Given the description of an element on the screen output the (x, y) to click on. 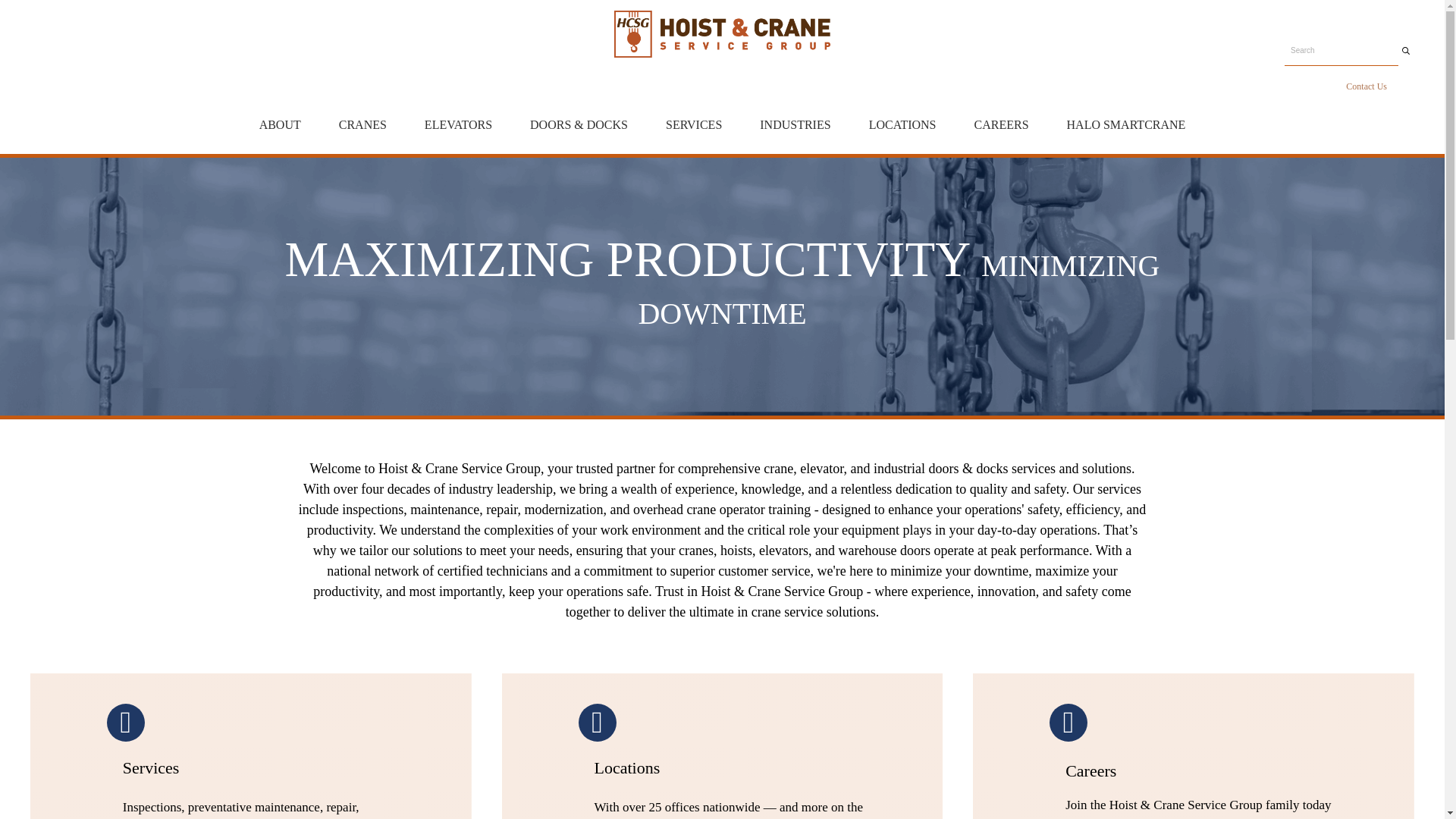
LOCATIONS (902, 125)
Contact Us (1366, 86)
ELEVATORS (458, 125)
INDUSTRIES (794, 125)
ABOUT (280, 125)
CRANES (363, 125)
SERVICES (693, 125)
Contact Us (1366, 86)
